Given the description of an element on the screen output the (x, y) to click on. 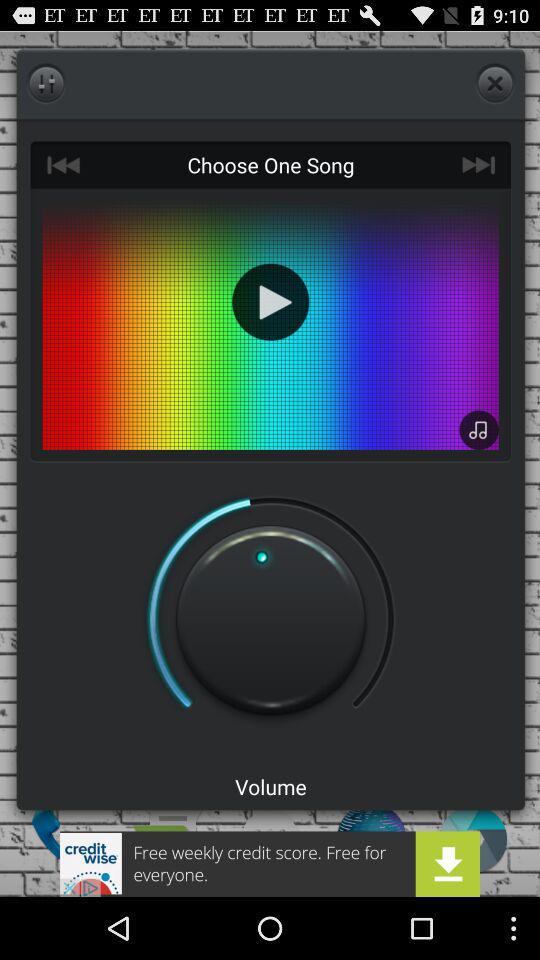
advertisements are displayed (270, 864)
